Given the description of an element on the screen output the (x, y) to click on. 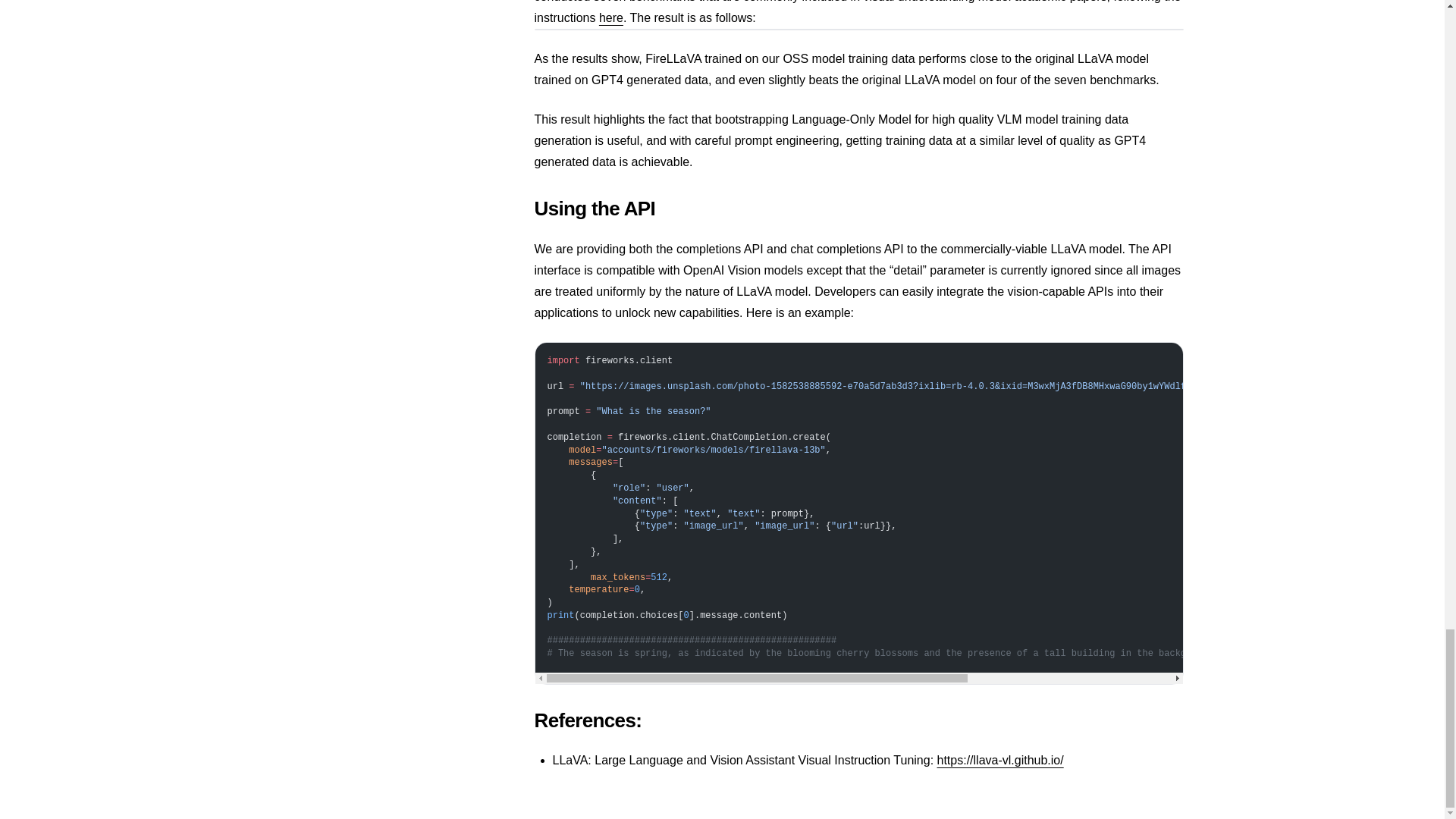
here (610, 17)
Using the API (858, 208)
References: (858, 720)
